Given the description of an element on the screen output the (x, y) to click on. 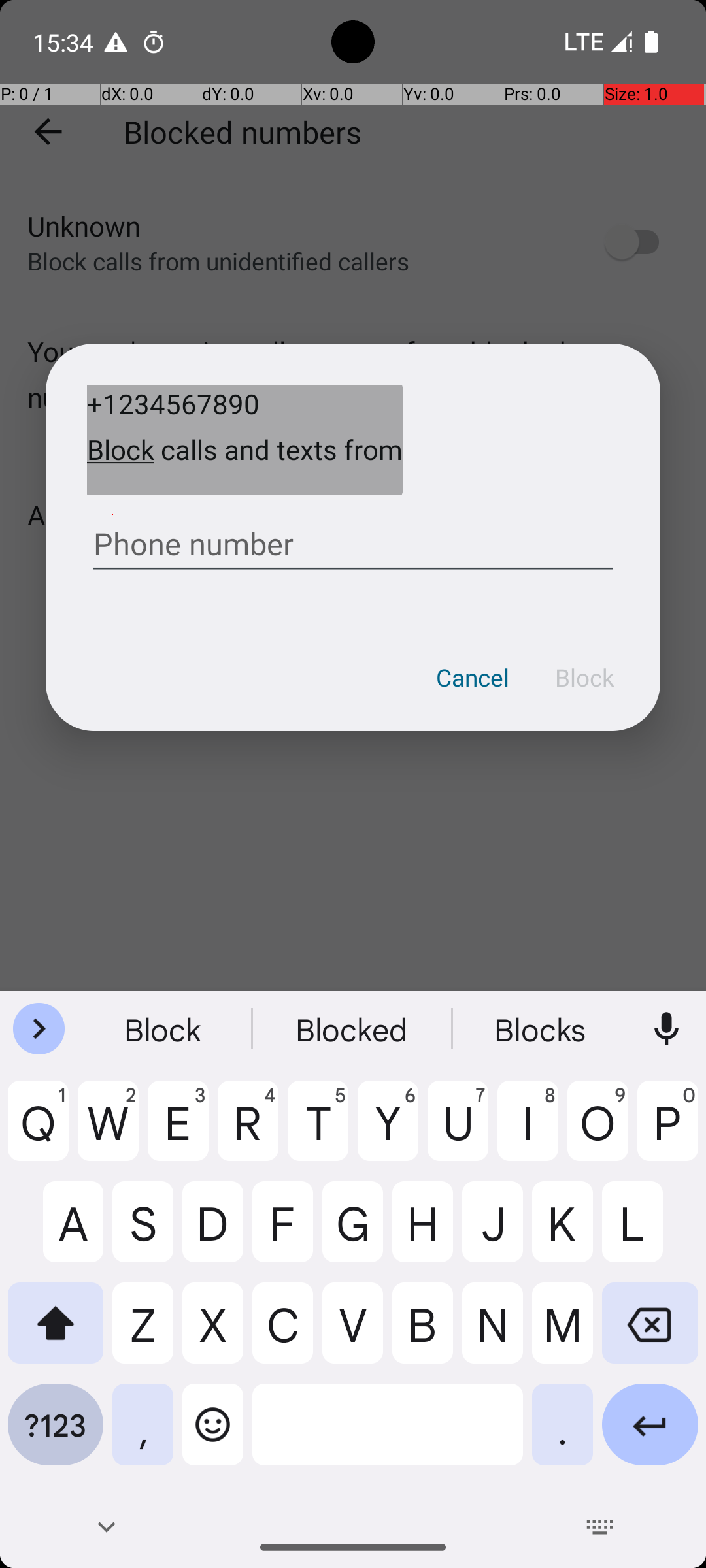
+1234567890
Block calls and texts from Element type: android.widget.TextView (244, 439)
Phone number Element type: android.widget.EditText (352, 538)
Block Element type: android.widget.Button (584, 677)
Back Element type: android.widget.ImageView (106, 1526)
Switch input method Element type: android.widget.ImageView (599, 1526)
Open features menu Element type: android.widget.FrameLayout (39, 1028)
Blocked Element type: android.widget.FrameLayout (352, 1028)
Blocks Element type: android.widget.FrameLayout (541, 1028)
Voice input Element type: android.widget.FrameLayout (666, 1028)
Q Element type: android.widget.FrameLayout (38, 1130)
W Element type: android.widget.FrameLayout (108, 1130)
E Element type: android.widget.FrameLayout (178, 1130)
R Element type: android.widget.FrameLayout (248, 1130)
T Element type: android.widget.FrameLayout (318, 1130)
Y Element type: android.widget.FrameLayout (387, 1130)
U Element type: android.widget.FrameLayout (457, 1130)
I Element type: android.widget.FrameLayout (527, 1130)
O Element type: android.widget.FrameLayout (597, 1130)
P Element type: android.widget.FrameLayout (667, 1130)
A Element type: android.widget.FrameLayout (55, 1231)
S Element type: android.widget.FrameLayout (142, 1231)
D Element type: android.widget.FrameLayout (212, 1231)
F Element type: android.widget.FrameLayout (282, 1231)
G Element type: android.widget.FrameLayout (352, 1231)
H Element type: android.widget.FrameLayout (422, 1231)
J Element type: android.widget.FrameLayout (492, 1231)
K Element type: android.widget.FrameLayout (562, 1231)
L Element type: android.widget.FrameLayout (649, 1231)
Shift Element type: android.widget.FrameLayout (55, 1332)
Z Element type: android.widget.FrameLayout (142, 1332)
X Element type: android.widget.FrameLayout (212, 1332)
C Element type: android.widget.FrameLayout (282, 1332)
V Element type: android.widget.FrameLayout (352, 1332)
B Element type: android.widget.FrameLayout (422, 1332)
N Element type: android.widget.FrameLayout (492, 1332)
M Element type: android.widget.FrameLayout (562, 1332)
Symbol keyboard Element type: android.widget.FrameLayout (55, 1434)
, Element type: android.widget.FrameLayout (142, 1434)
Emoji button Element type: android.widget.FrameLayout (212, 1434)
Space Element type: android.widget.FrameLayout (387, 1434)
. Element type: android.widget.FrameLayout (562, 1434)
Enter Element type: android.widget.FrameLayout (649, 1434)
